Given the description of an element on the screen output the (x, y) to click on. 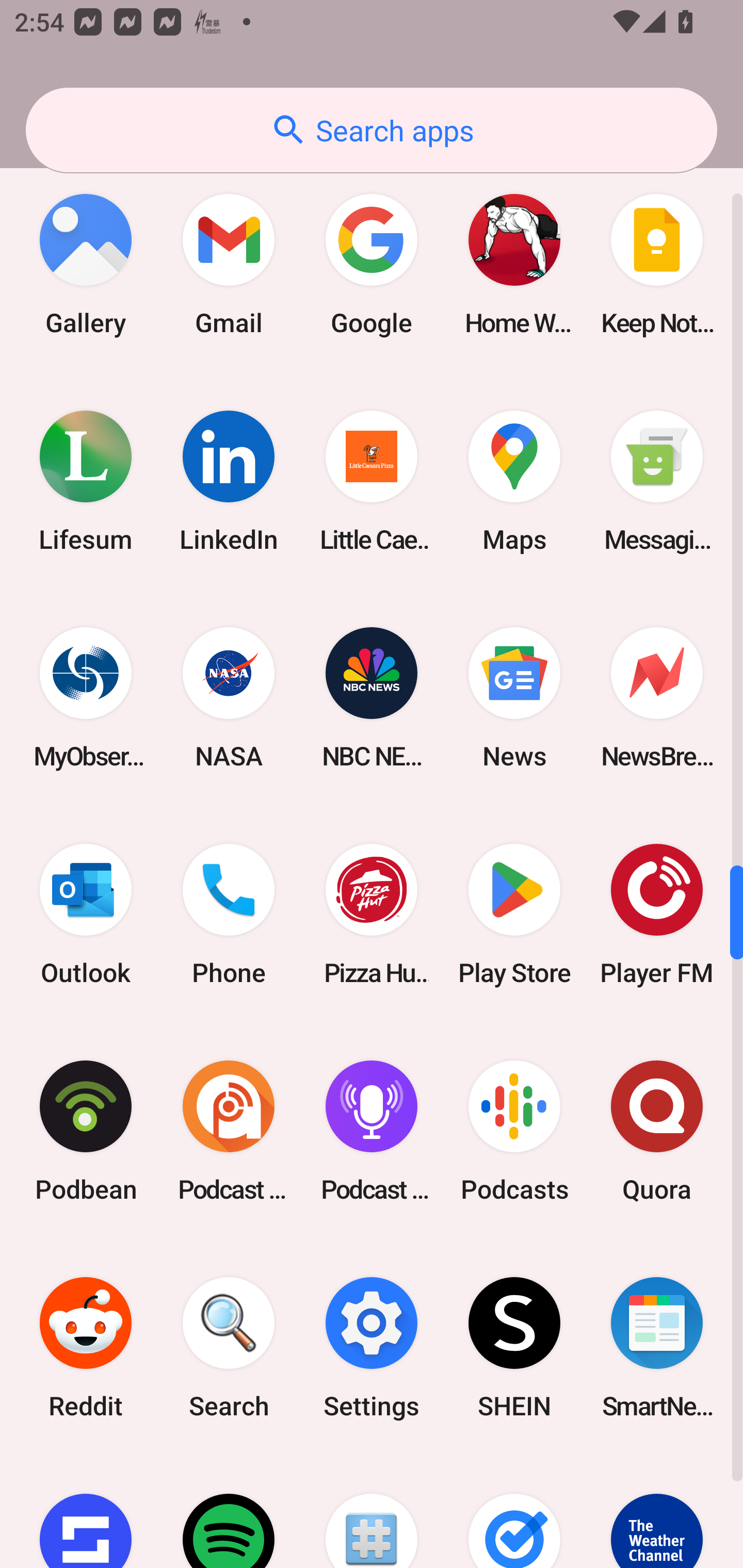
  Search apps (371, 130)
Gallery (85, 264)
Gmail (228, 264)
Google (371, 264)
Home Workout (514, 264)
Keep Notes (656, 264)
Lifesum (85, 481)
LinkedIn (228, 481)
Little Caesars Pizza (371, 481)
Maps (514, 481)
Messaging (656, 481)
MyObservatory (85, 697)
NASA (228, 697)
NBC NEWS (371, 697)
News (514, 697)
NewsBreak (656, 697)
Outlook (85, 913)
Phone (228, 913)
Pizza Hut HK & Macau (371, 913)
Play Store (514, 913)
Player FM (656, 913)
Podbean (85, 1130)
Podcast Addict (228, 1130)
Podcast Player (371, 1130)
Podcasts (514, 1130)
Quora (656, 1130)
Reddit (85, 1347)
Search (228, 1347)
Settings (371, 1347)
SHEIN (514, 1347)
SmartNews (656, 1347)
